Given the description of an element on the screen output the (x, y) to click on. 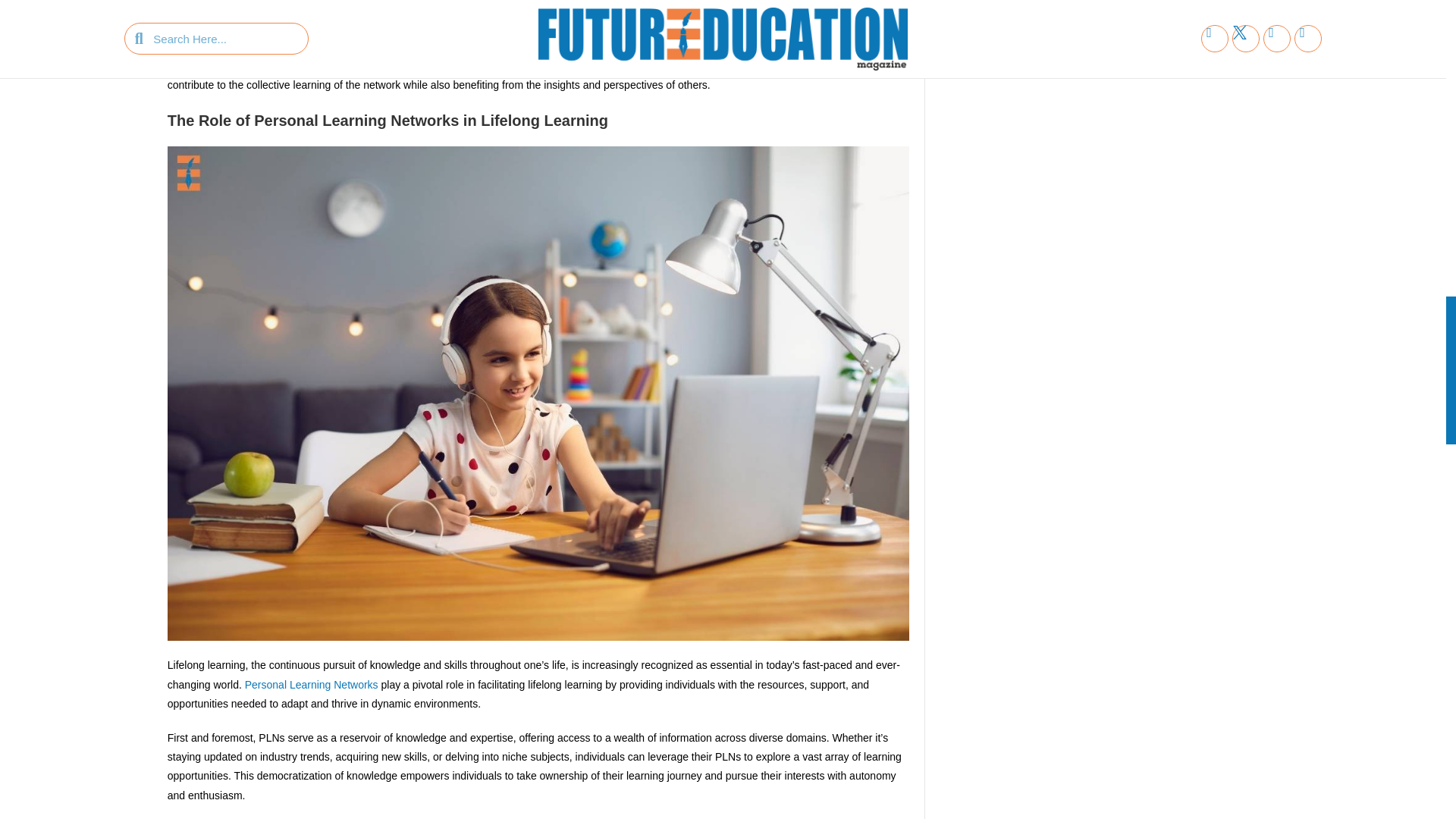
Personal Learning Networks (311, 684)
